Given the description of an element on the screen output the (x, y) to click on. 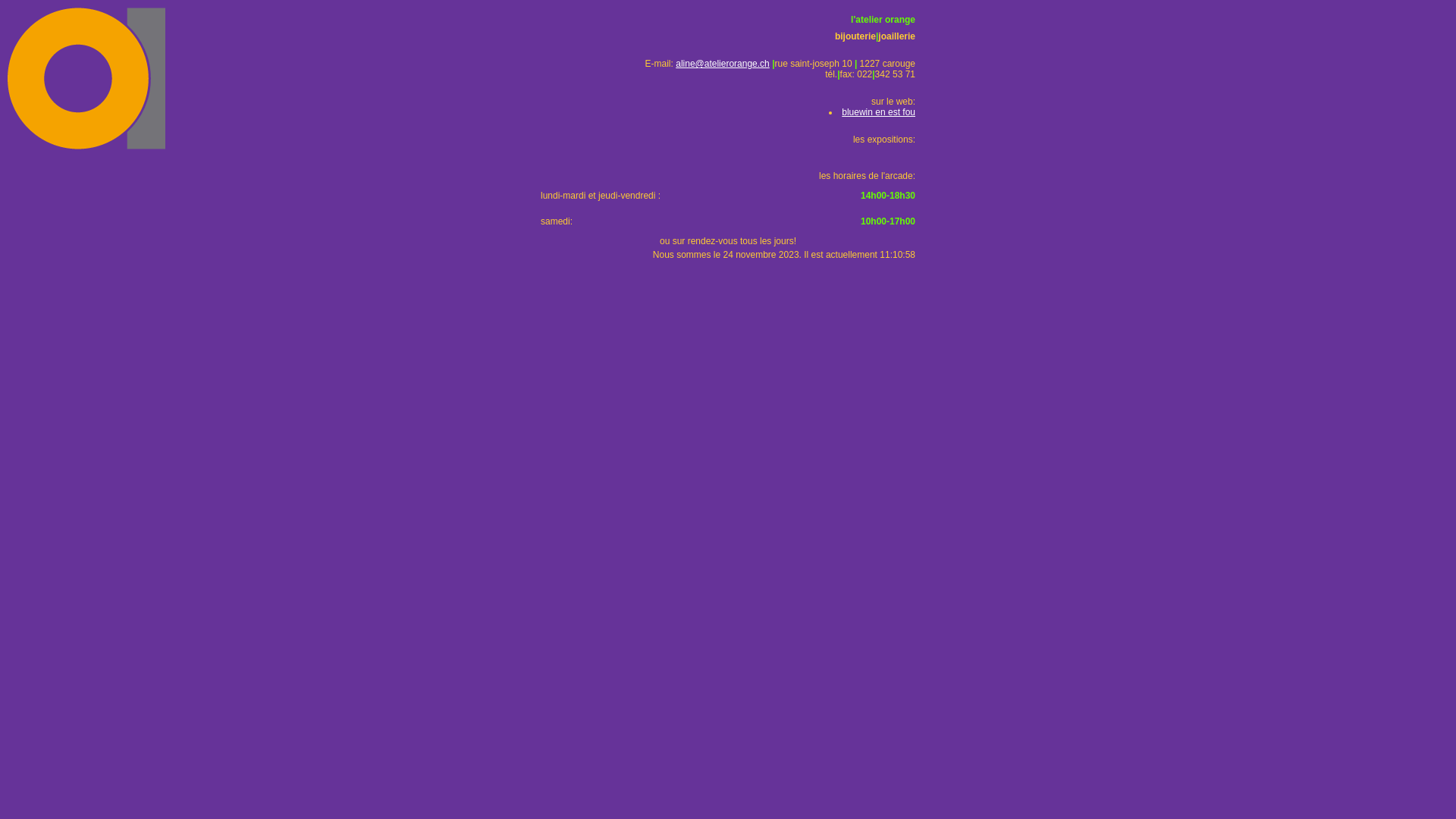
bluewin en est fou Element type: text (878, 111)
aline@atelierorange.ch Element type: text (722, 63)
